Given the description of an element on the screen output the (x, y) to click on. 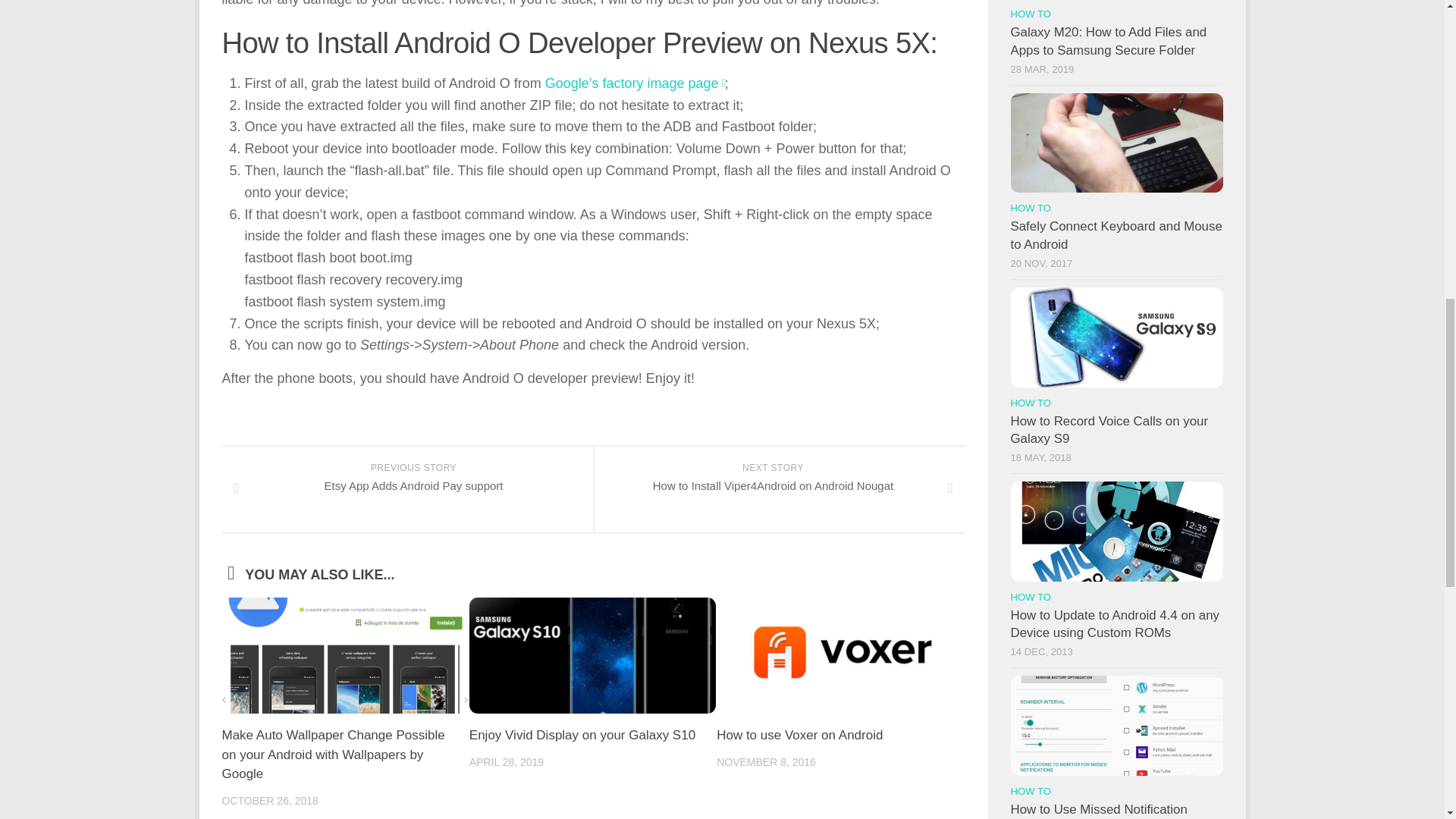
Permalink to How to use Voxer on Android (799, 735)
How to use Voxer on Android (777, 489)
Enjoy Vivid Display on your Galaxy S10 (799, 735)
Permalink to Enjoy Vivid Display on your Galaxy S10 (581, 735)
